Given the description of an element on the screen output the (x, y) to click on. 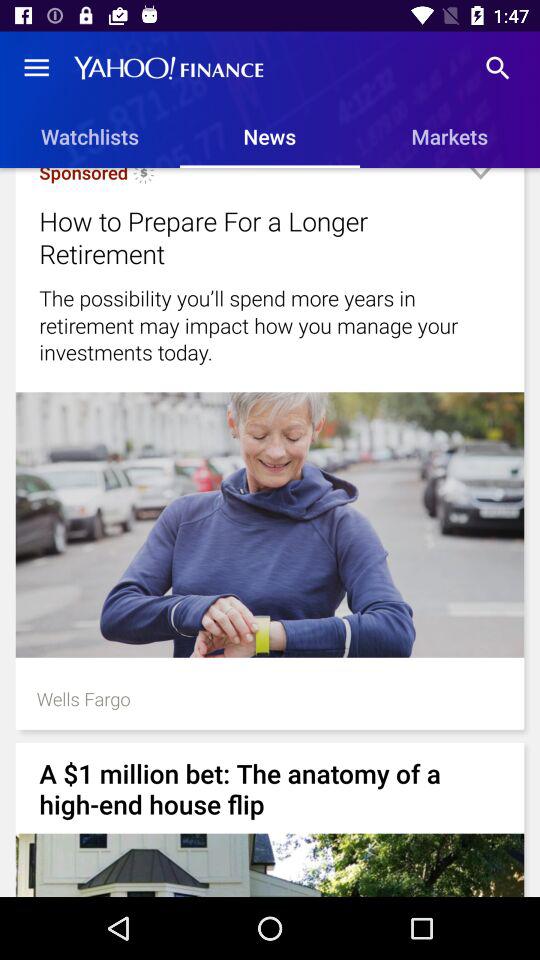
press the icon above the the possibility you item (480, 181)
